Given the description of an element on the screen output the (x, y) to click on. 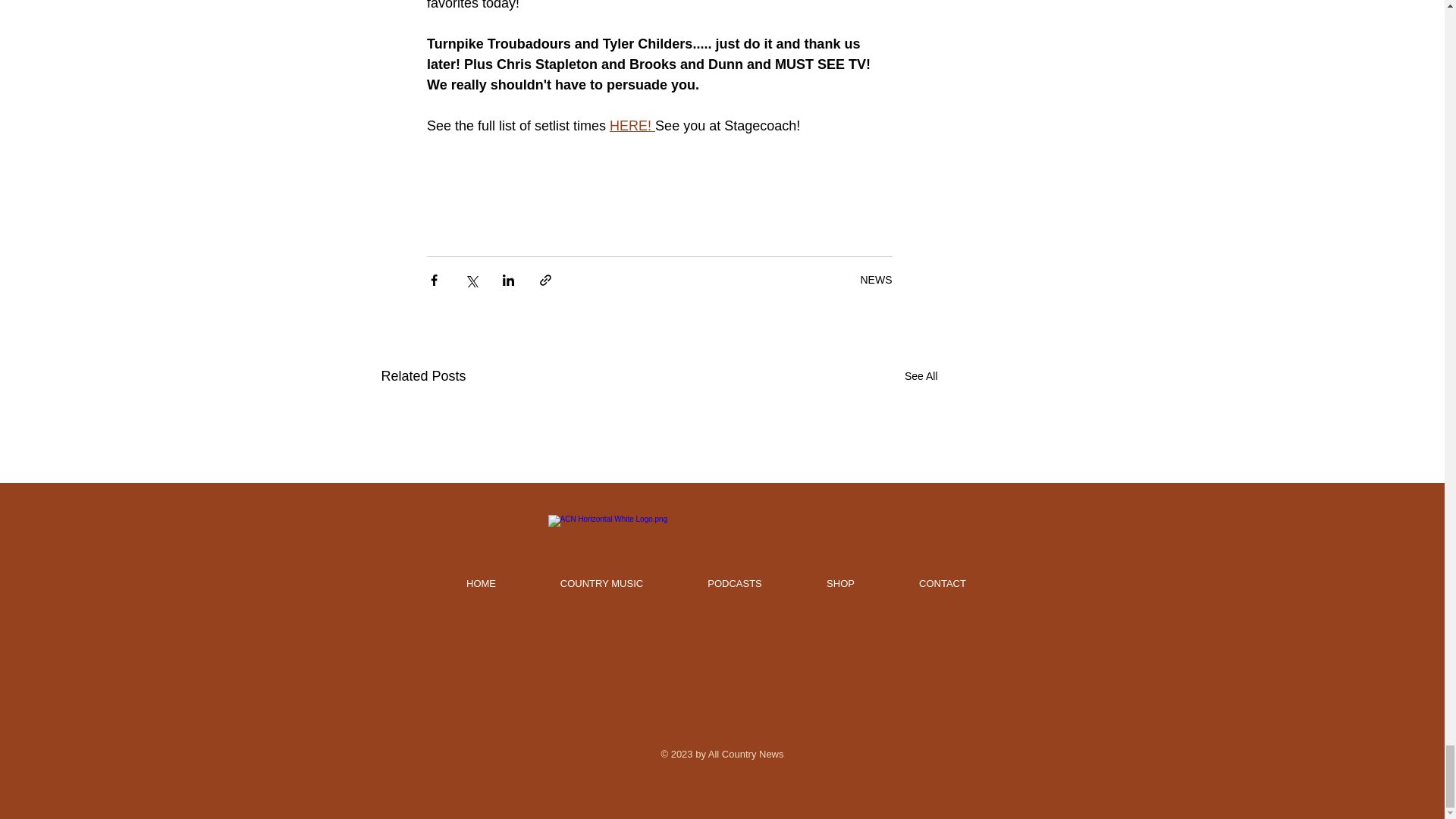
See All (920, 376)
HERE!  (632, 125)
NEWS (875, 279)
